Given the description of an element on the screen output the (x, y) to click on. 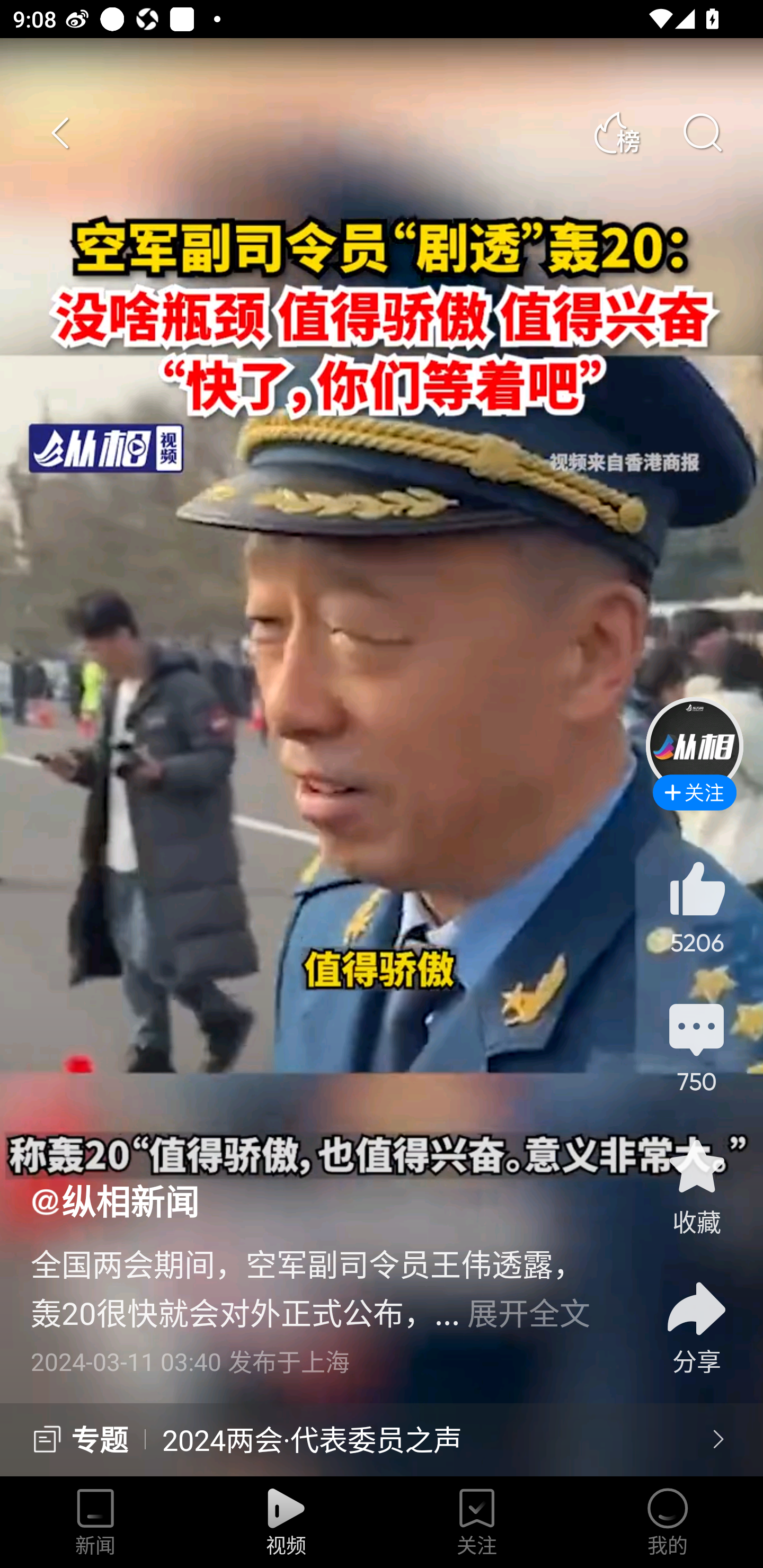
 返回 (60, 133)
 热榜 (616, 133)
 搜索 (701, 133)
赞 5206 (696, 906)
评论  750 (696, 1045)
收藏 (696, 1184)
纵相新闻 (114, 1200)
分享  分享 (696, 1315)
专题 2024两会·代表委员之声  (381, 1440)
